Given the description of an element on the screen output the (x, y) to click on. 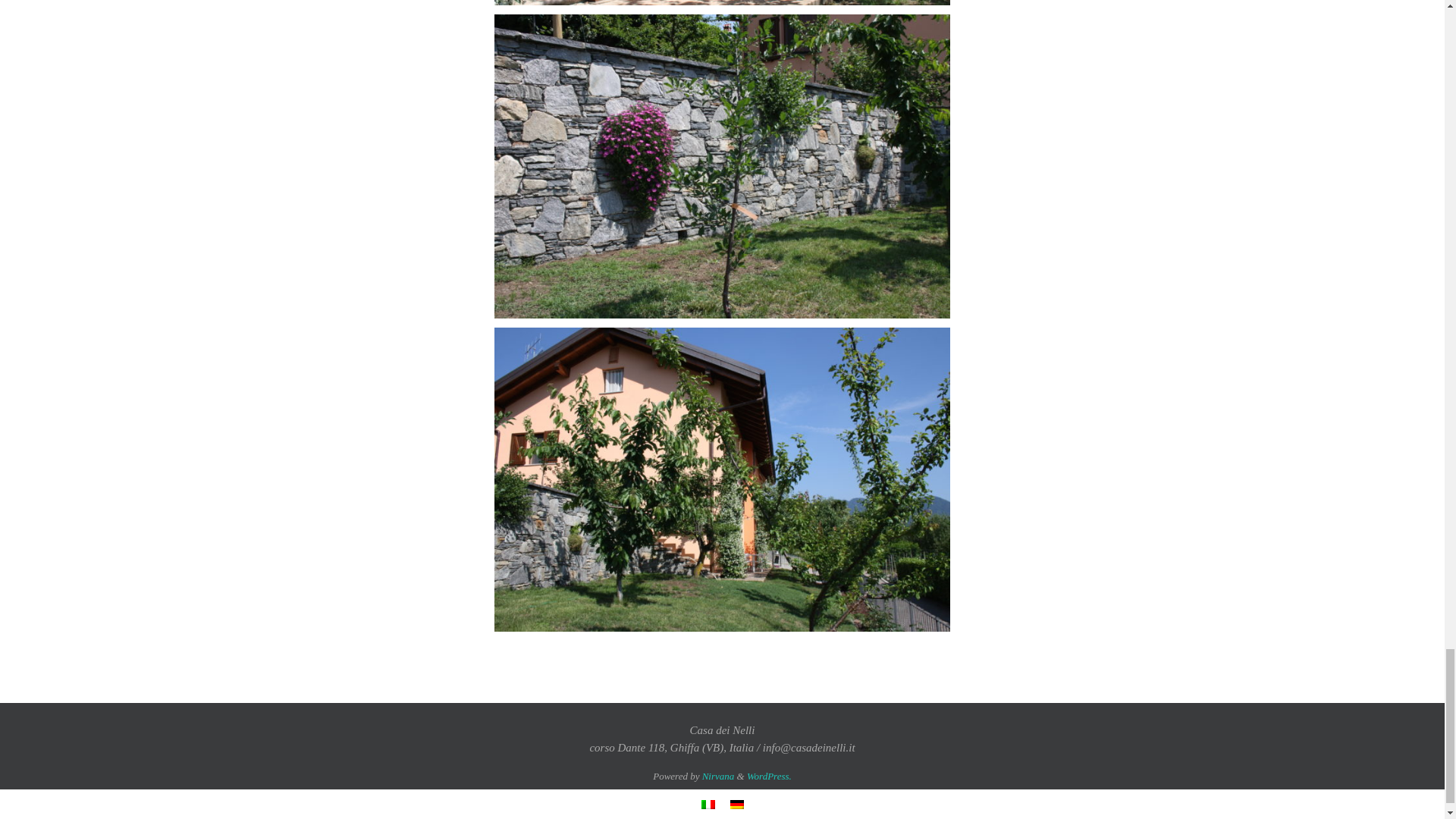
Nirvana Theme by Cryout Creations (718, 776)
Deutsch (735, 804)
WordPress. (769, 776)
Italiano (707, 804)
Nirvana (718, 776)
Semantic Personal Publishing Platform (769, 776)
